Given the description of an element on the screen output the (x, y) to click on. 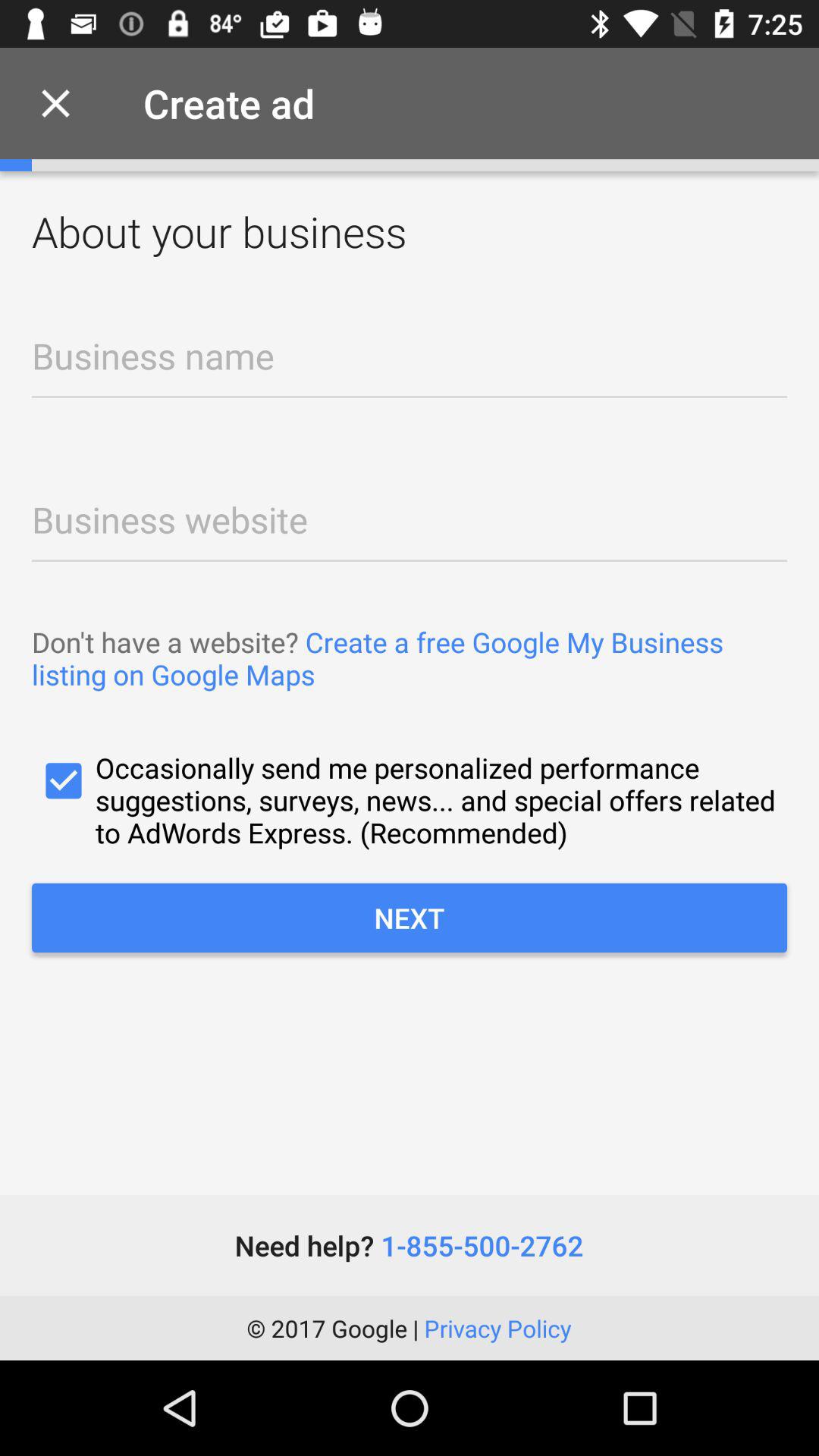
tap icon above the next item (409, 800)
